Given the description of an element on the screen output the (x, y) to click on. 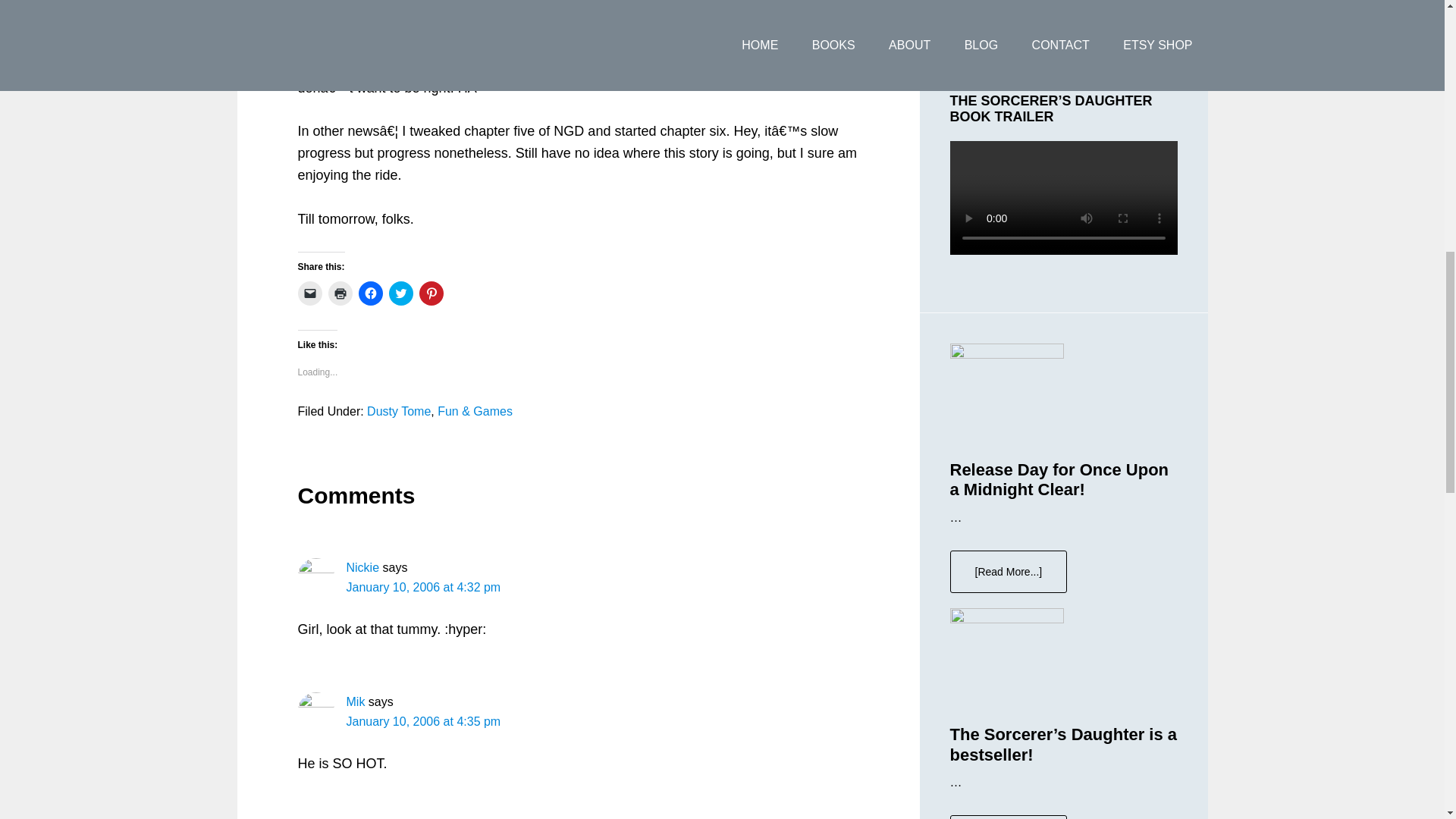
Click to share on Pinterest (430, 293)
Nickie (362, 567)
January 10, 2006 at 4:32 pm (423, 586)
Mik (355, 701)
Click to email a link to a friend (309, 293)
January 10, 2006 at 4:35 pm (423, 721)
Dusty Tome (398, 410)
Click to print (339, 293)
Click to share on Twitter (400, 293)
Click to share on Facebook (369, 293)
